Given the description of an element on the screen output the (x, y) to click on. 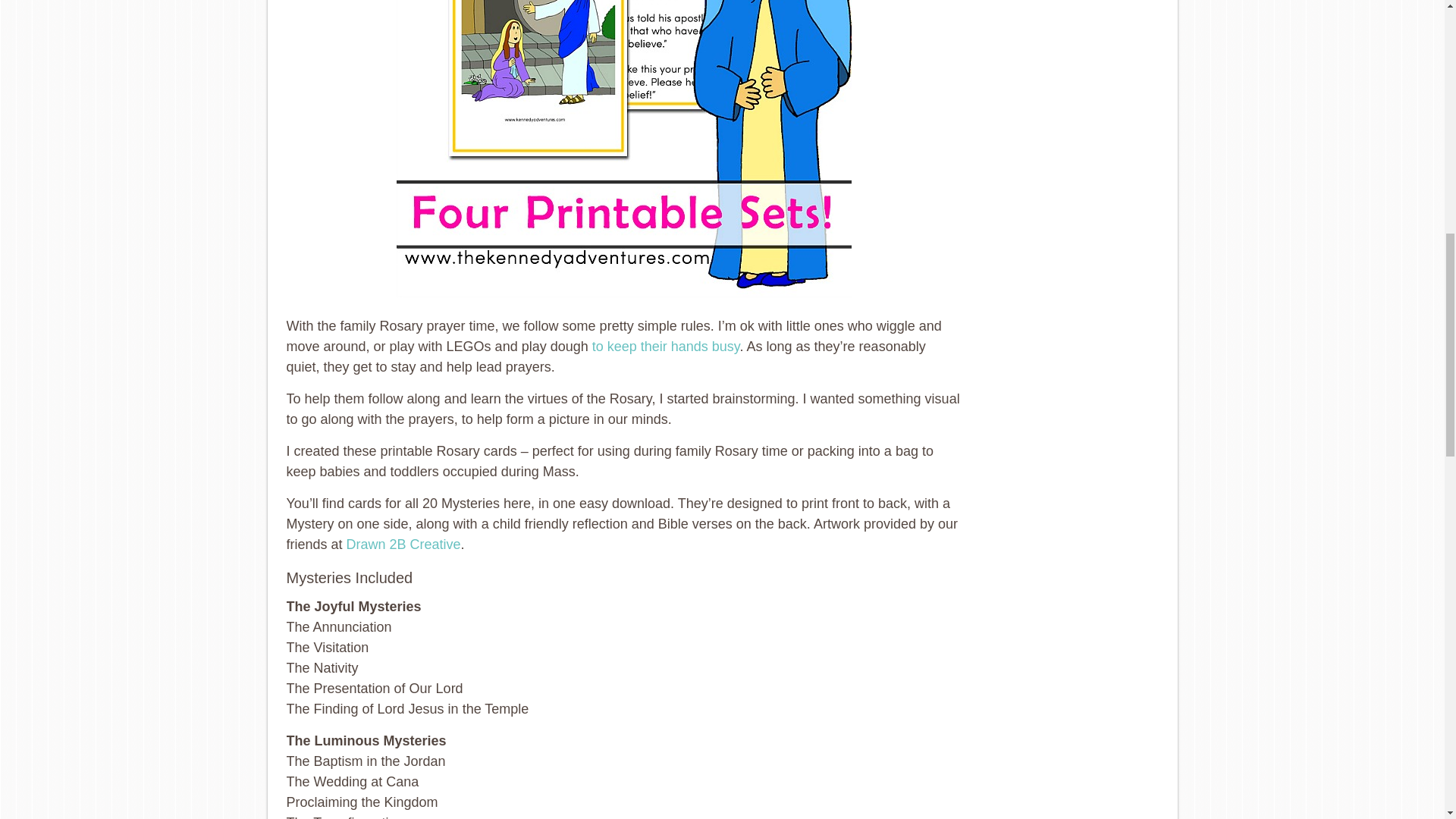
Drawn 2B Creative (403, 544)
to keep their hands busy (665, 345)
Keeping Toddlers Busy While You Homeschool (665, 345)
